Given the description of an element on the screen output the (x, y) to click on. 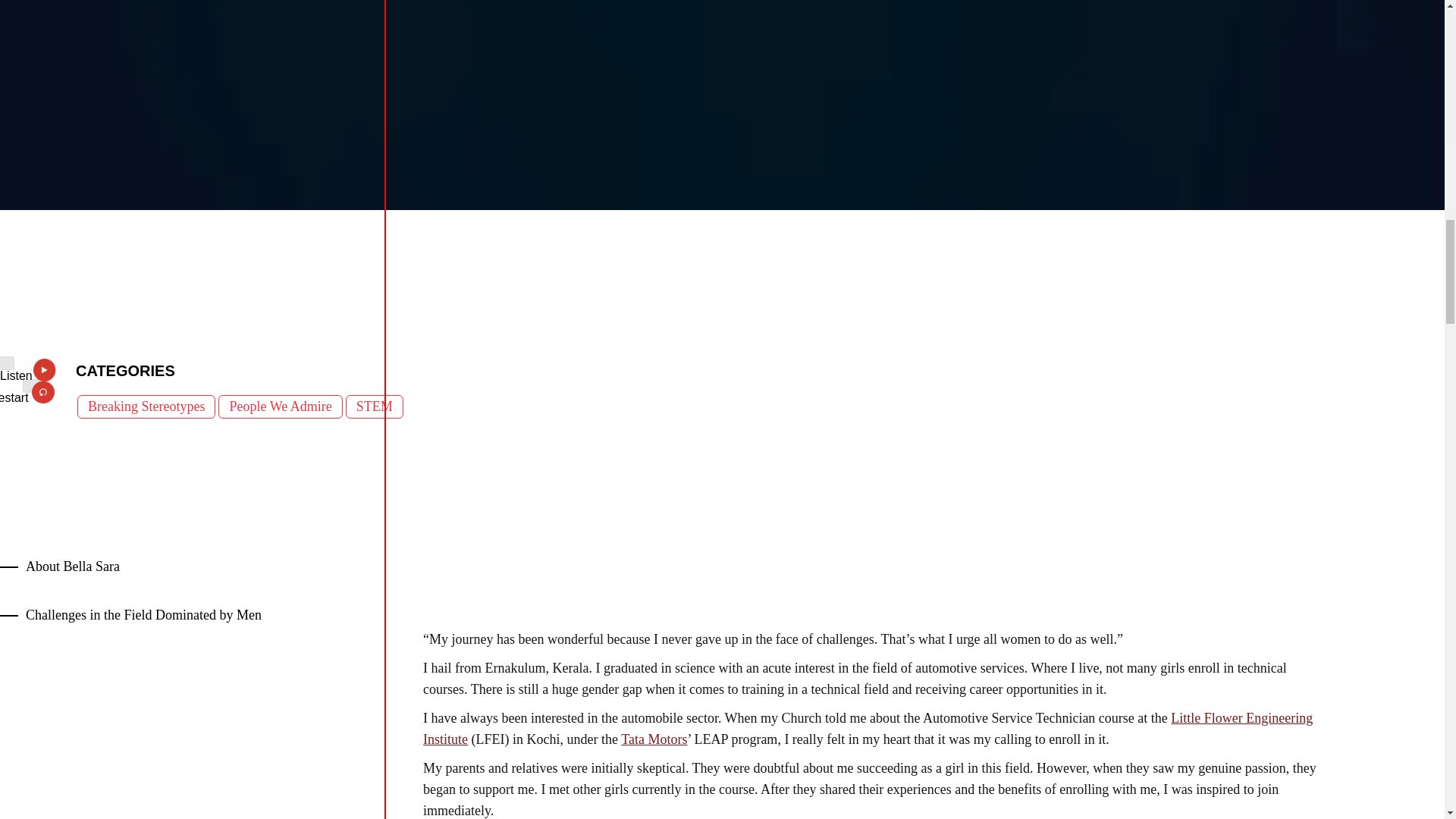
Challenges in the Field Dominated by Men (143, 614)
People We Admire (280, 406)
Tata Motors (654, 739)
About Bella Sara (72, 566)
Play (35, 386)
Breaking Stereotypes (146, 406)
About Bella Sara (72, 566)
Challenges in the Field Dominated by Men (143, 614)
Play (7, 363)
Little Flower Engineering Institute (868, 728)
STEM (374, 406)
